Given the description of an element on the screen output the (x, y) to click on. 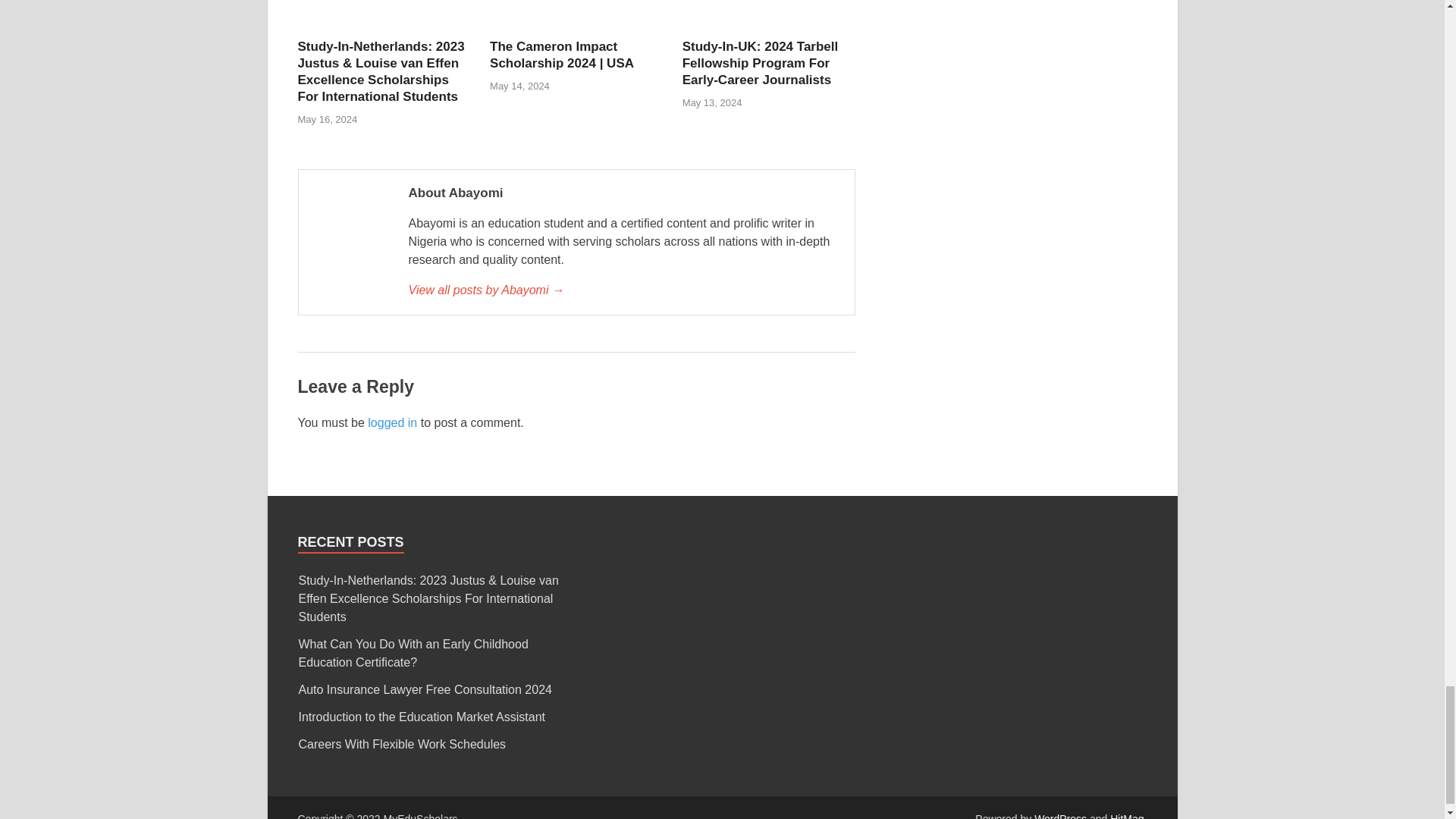
logged in (392, 422)
Abayomi (622, 290)
